Given the description of an element on the screen output the (x, y) to click on. 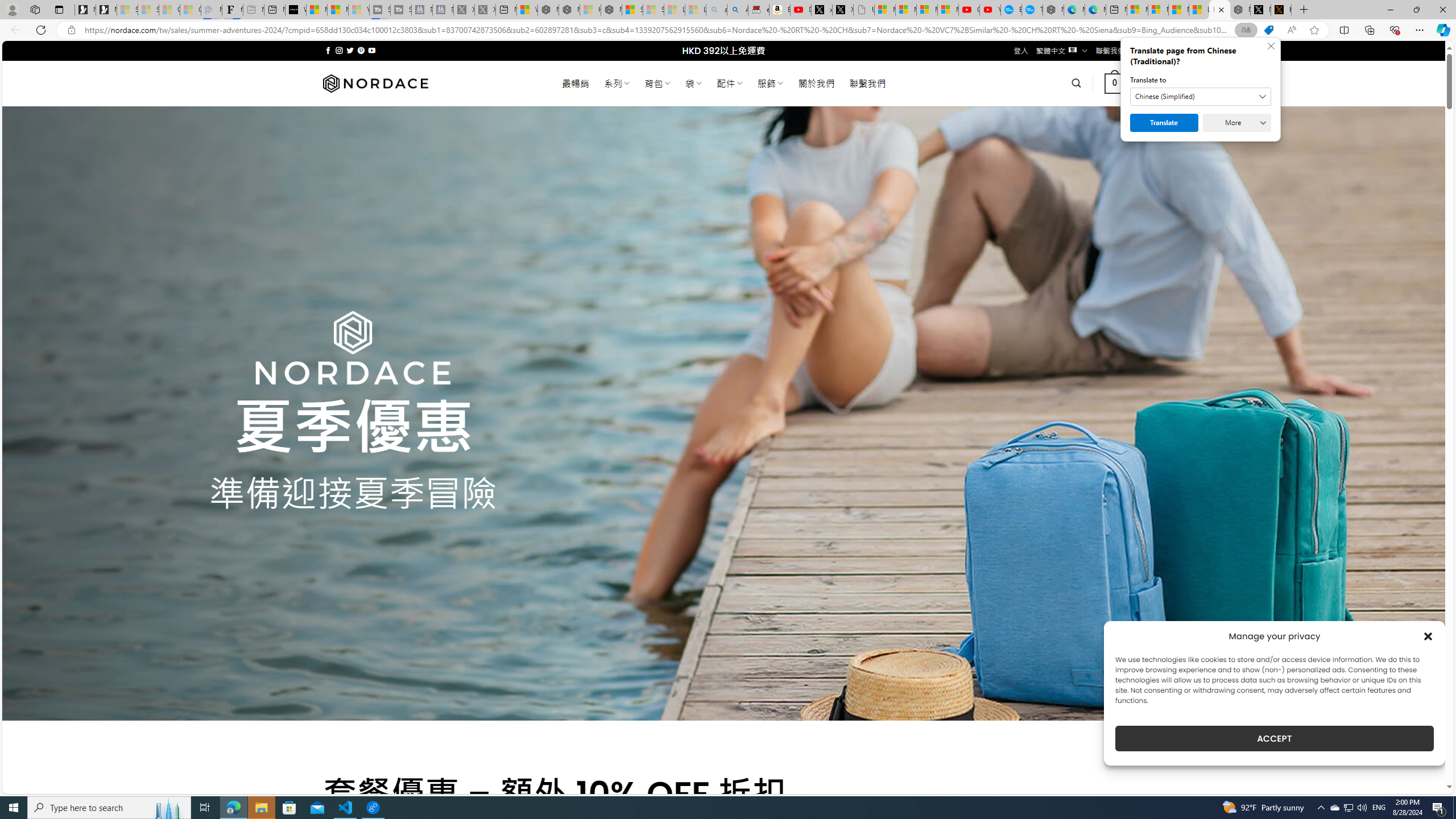
Class: cmplz-close (1428, 636)
